Given the description of an element on the screen output the (x, y) to click on. 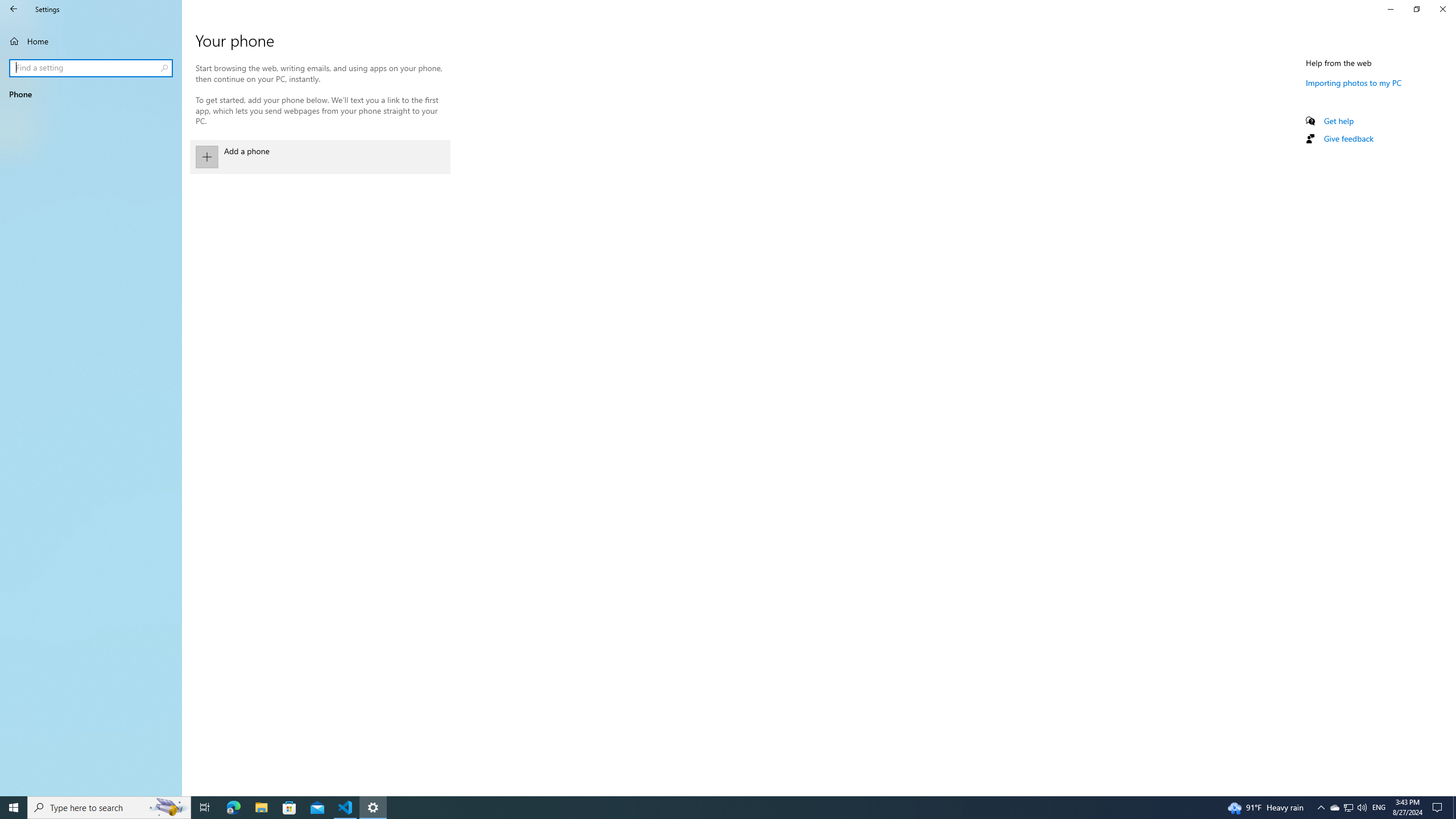
Importing photos to my PC (1354, 82)
Minimize Settings (1390, 9)
Close Settings (1442, 9)
Search box, Find a setting (91, 67)
Get help (1338, 120)
Home (91, 40)
Settings - 1 running window (373, 807)
Give feedback (1348, 138)
Back (13, 9)
